Given the description of an element on the screen output the (x, y) to click on. 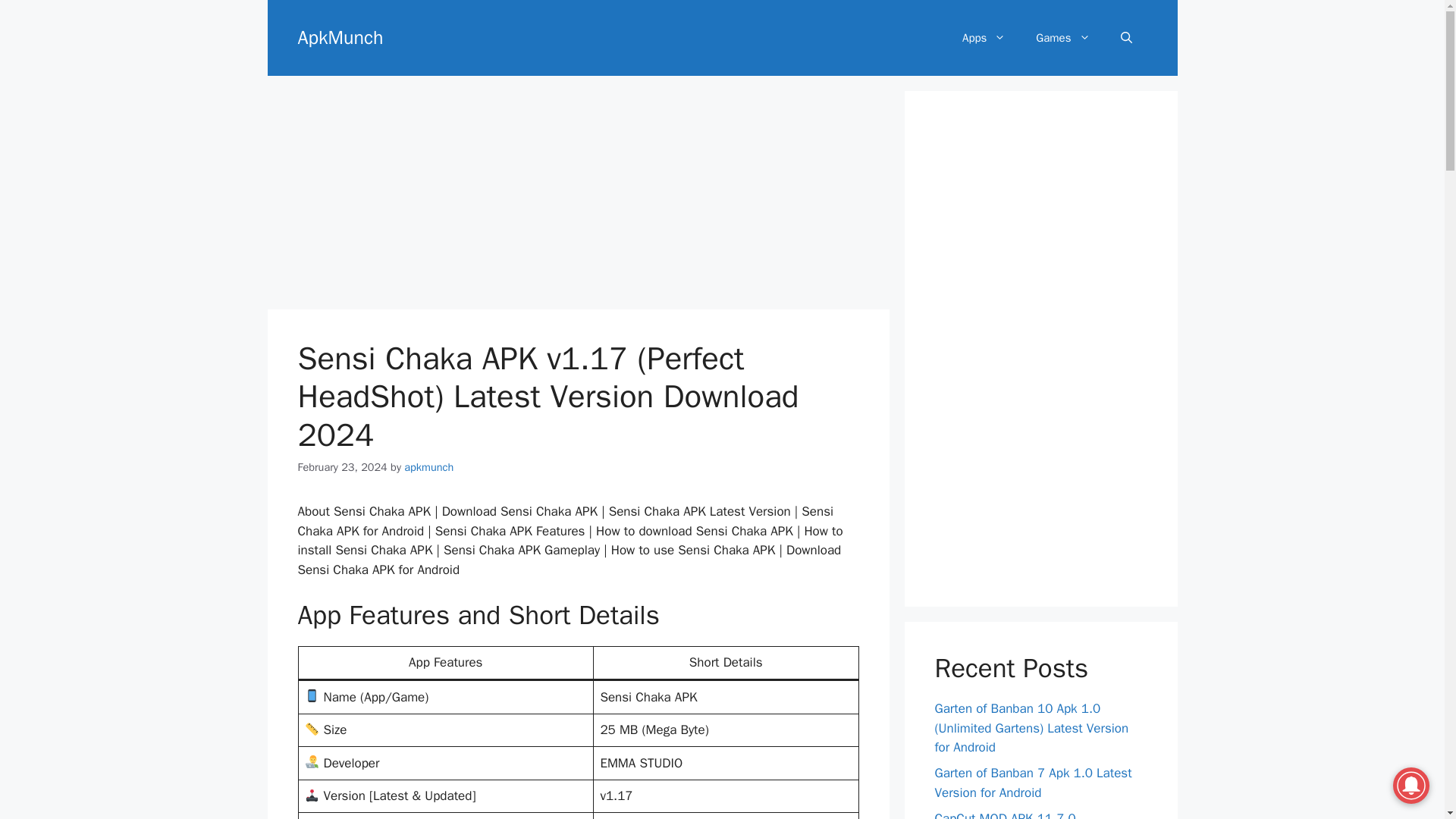
Apps (983, 37)
View all posts by apkmunch (428, 467)
CapCut MOD APK 11.7.0 (1004, 814)
ApkMunch (339, 37)
Garten of Banban 7 Apk 1.0 Latest Version for Android (1032, 782)
Games (1062, 37)
Advertisement (577, 196)
apkmunch (428, 467)
